Given the description of an element on the screen output the (x, y) to click on. 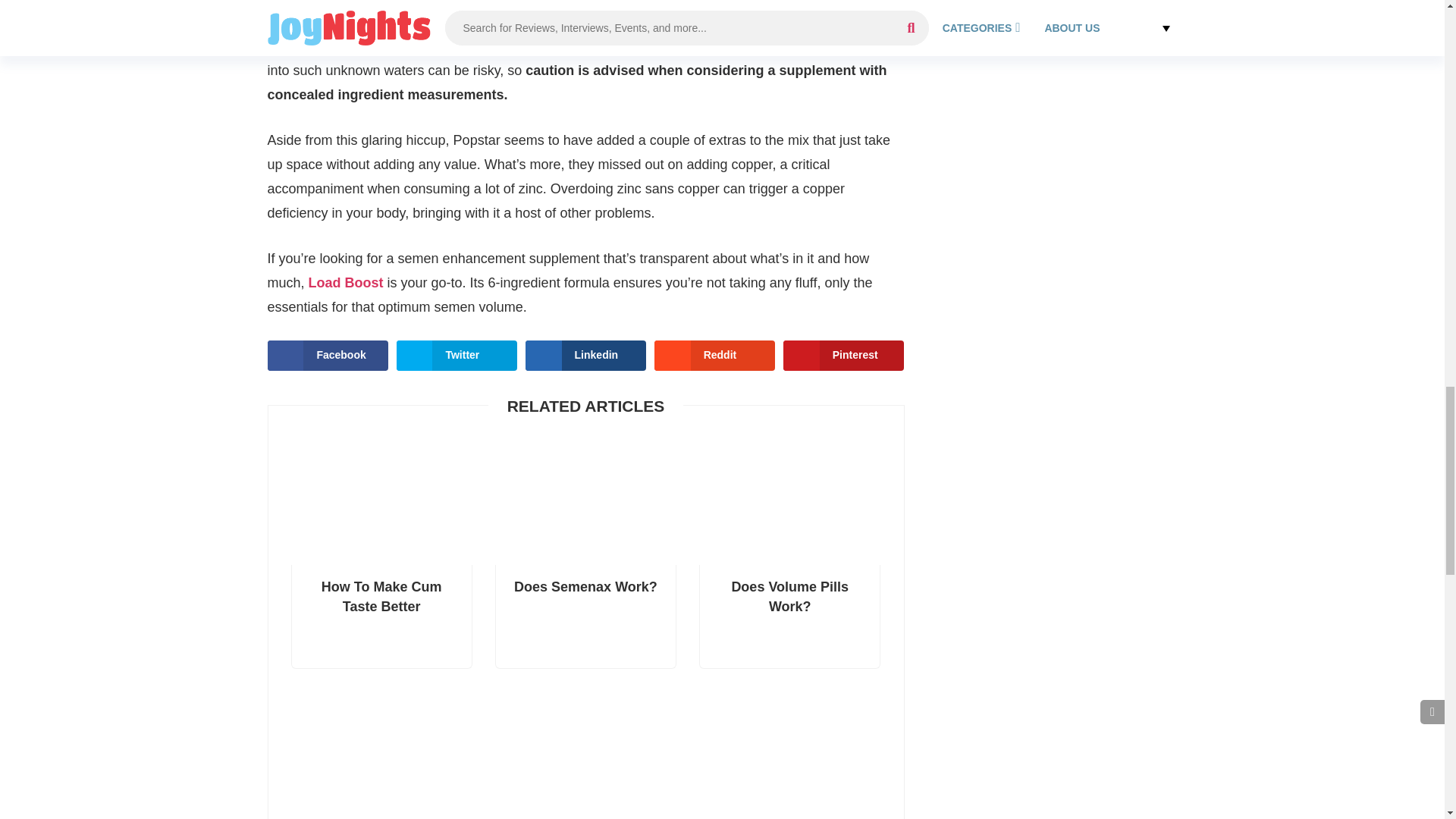
Does Volume Pills Work? (789, 616)
How To Make Cum Taste Better (380, 616)
Does Semenax Work? (586, 616)
